Given the description of an element on the screen output the (x, y) to click on. 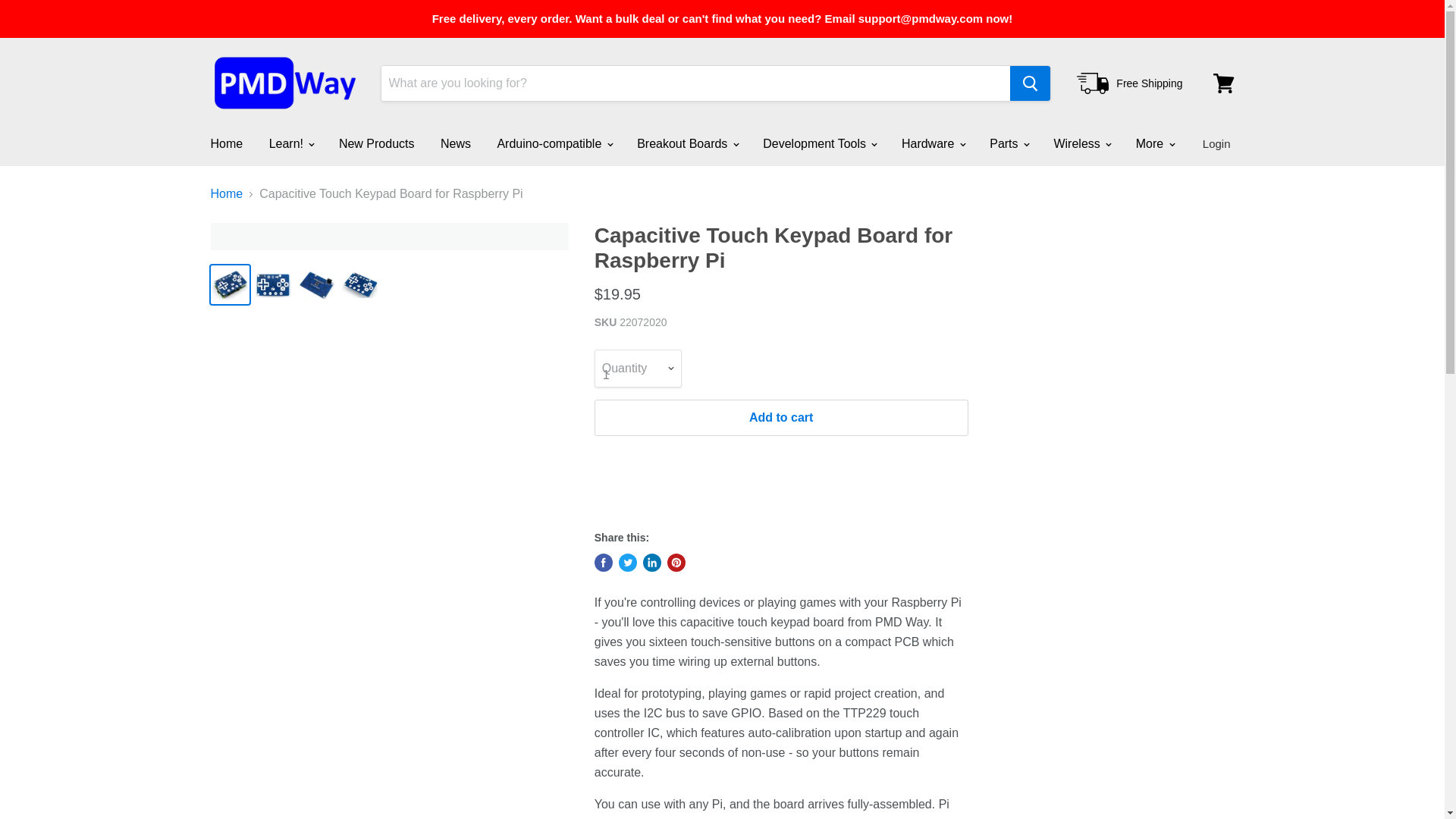
View cart (1223, 83)
Home (225, 143)
Learn! (290, 143)
News (455, 143)
New Products (376, 143)
Arduino-compatible (552, 143)
